Given the description of an element on the screen output the (x, y) to click on. 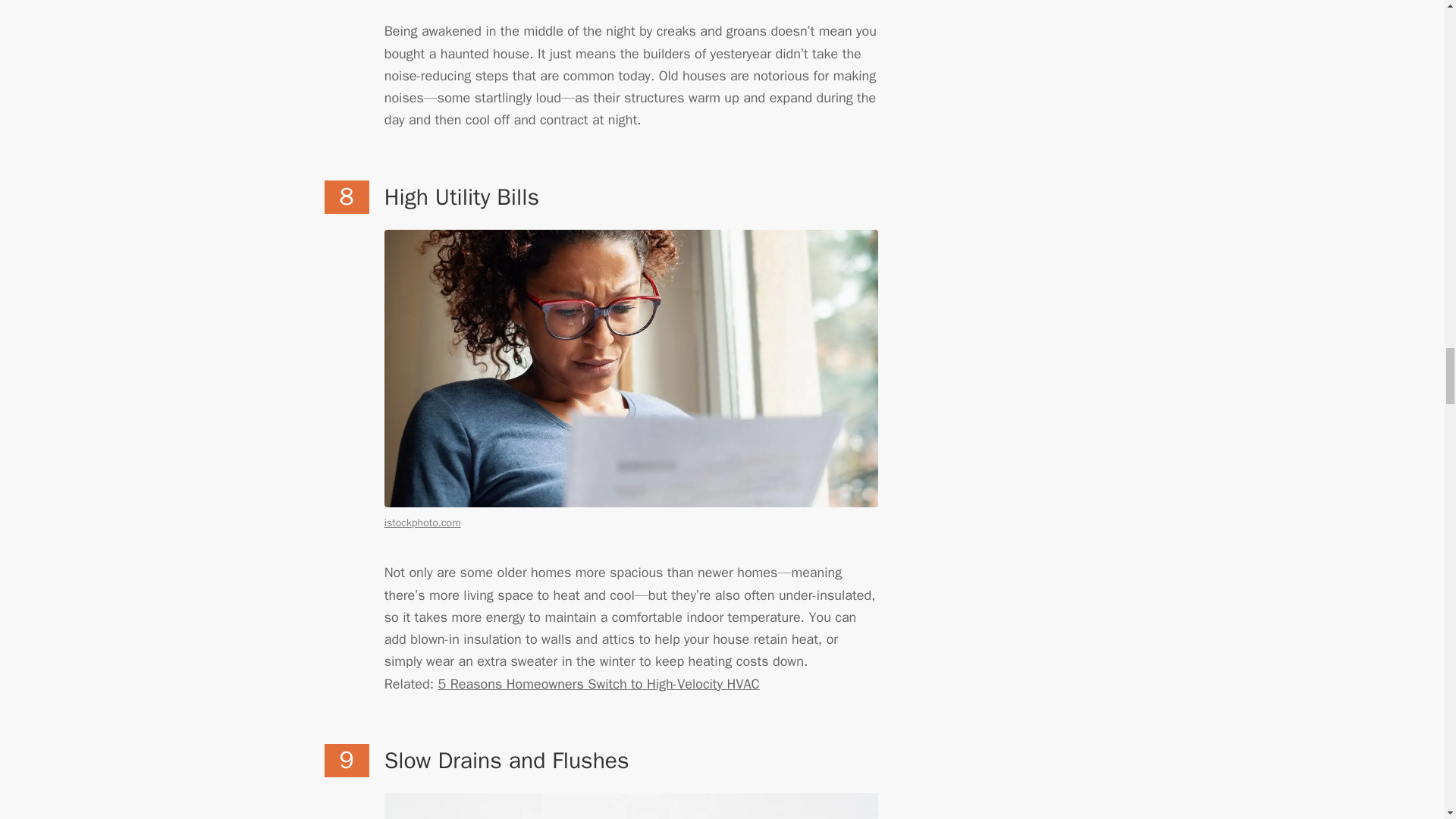
istockphoto.com (422, 522)
